Given the description of an element on the screen output the (x, y) to click on. 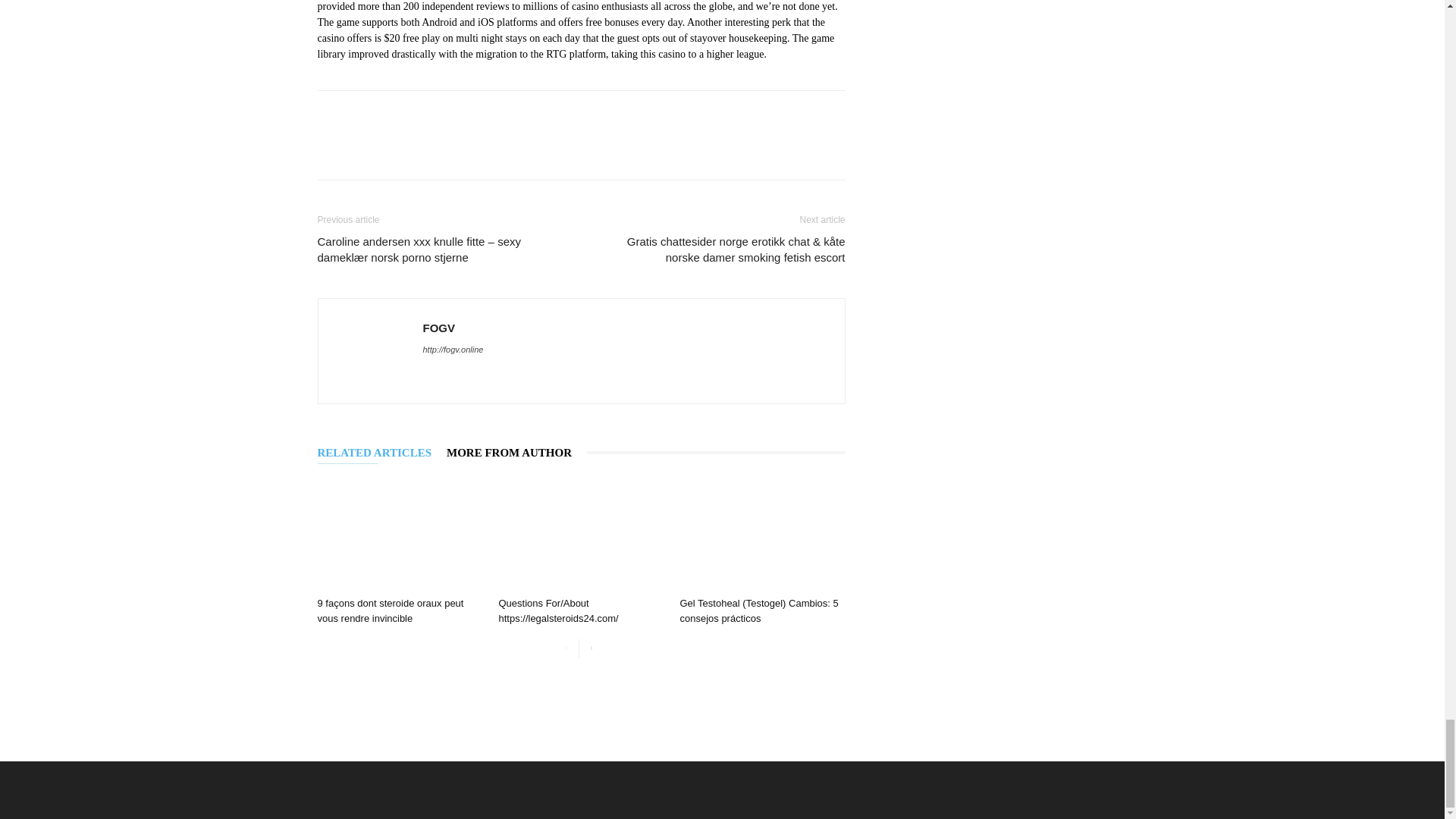
RELATED ARTICLES (381, 453)
FOGV (439, 327)
MORE FROM AUTHOR (516, 453)
